Given the description of an element on the screen output the (x, y) to click on. 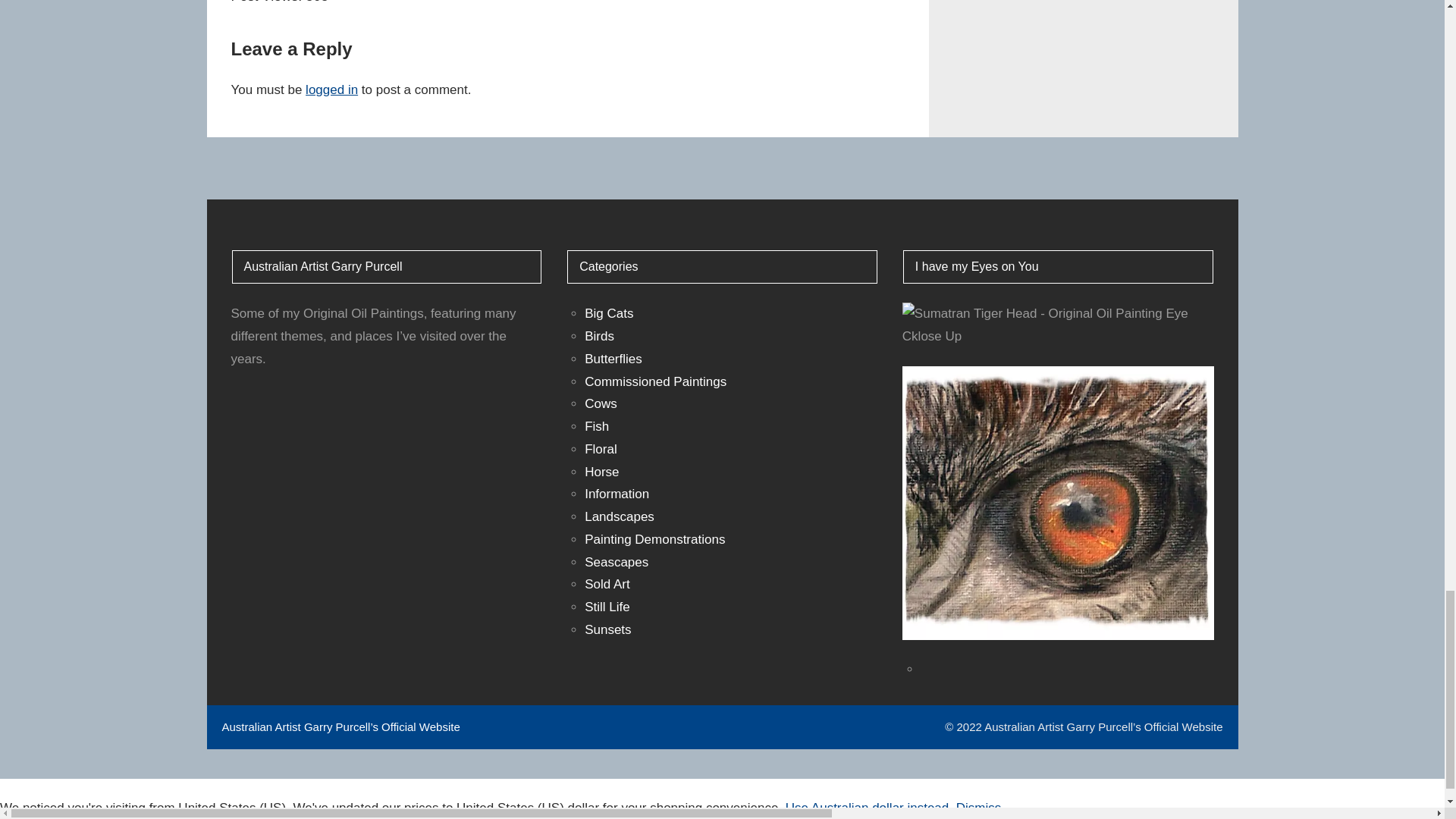
logged in (331, 89)
